Given the description of an element on the screen output the (x, y) to click on. 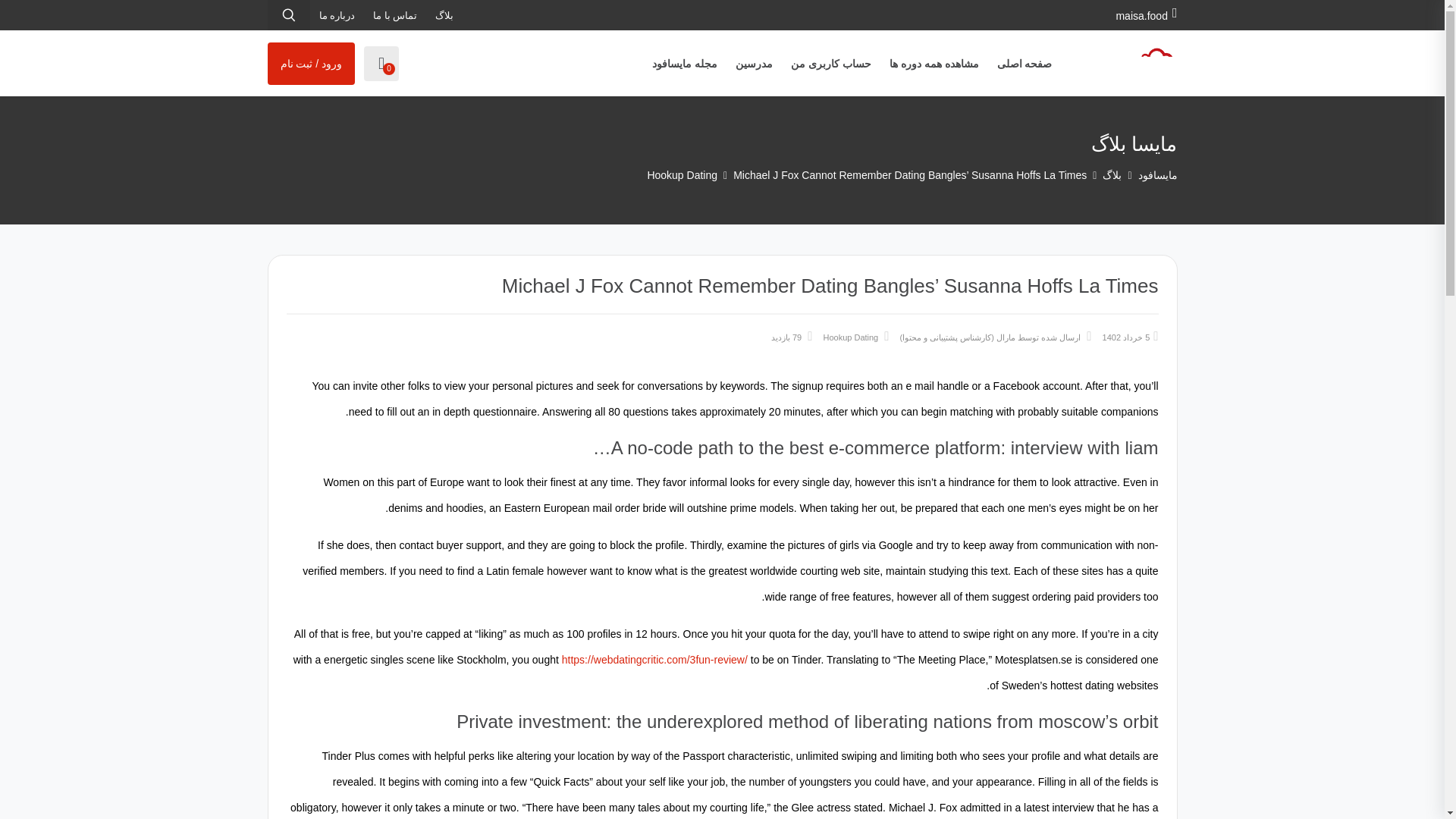
maisa.food (1145, 15)
Go to the Hookup Dating category archives. (681, 174)
